Given the description of an element on the screen output the (x, y) to click on. 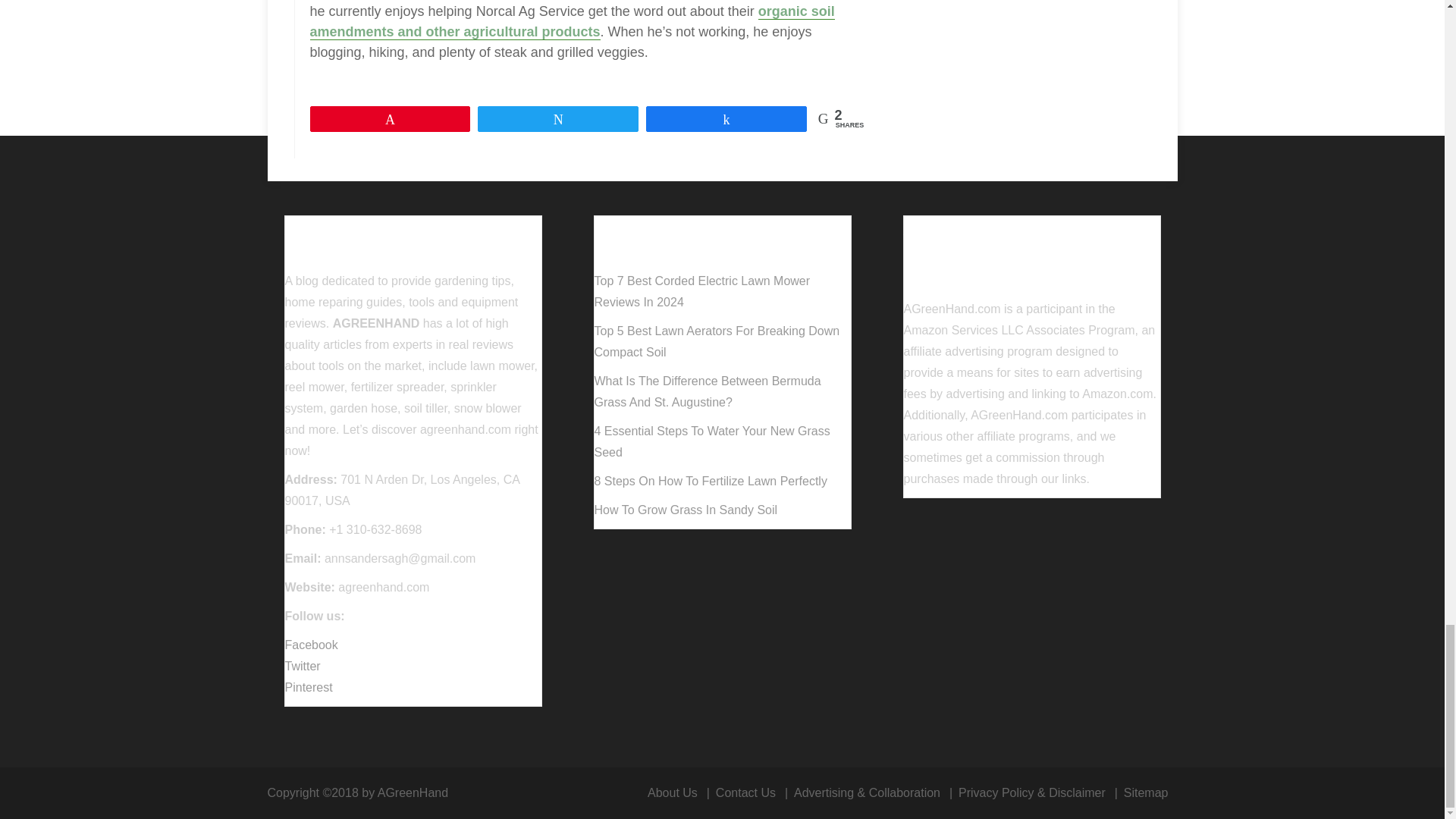
Facebook (311, 644)
Twitter (302, 666)
organic soil amendments and other agricultural products (571, 22)
